Given the description of an element on the screen output the (x, y) to click on. 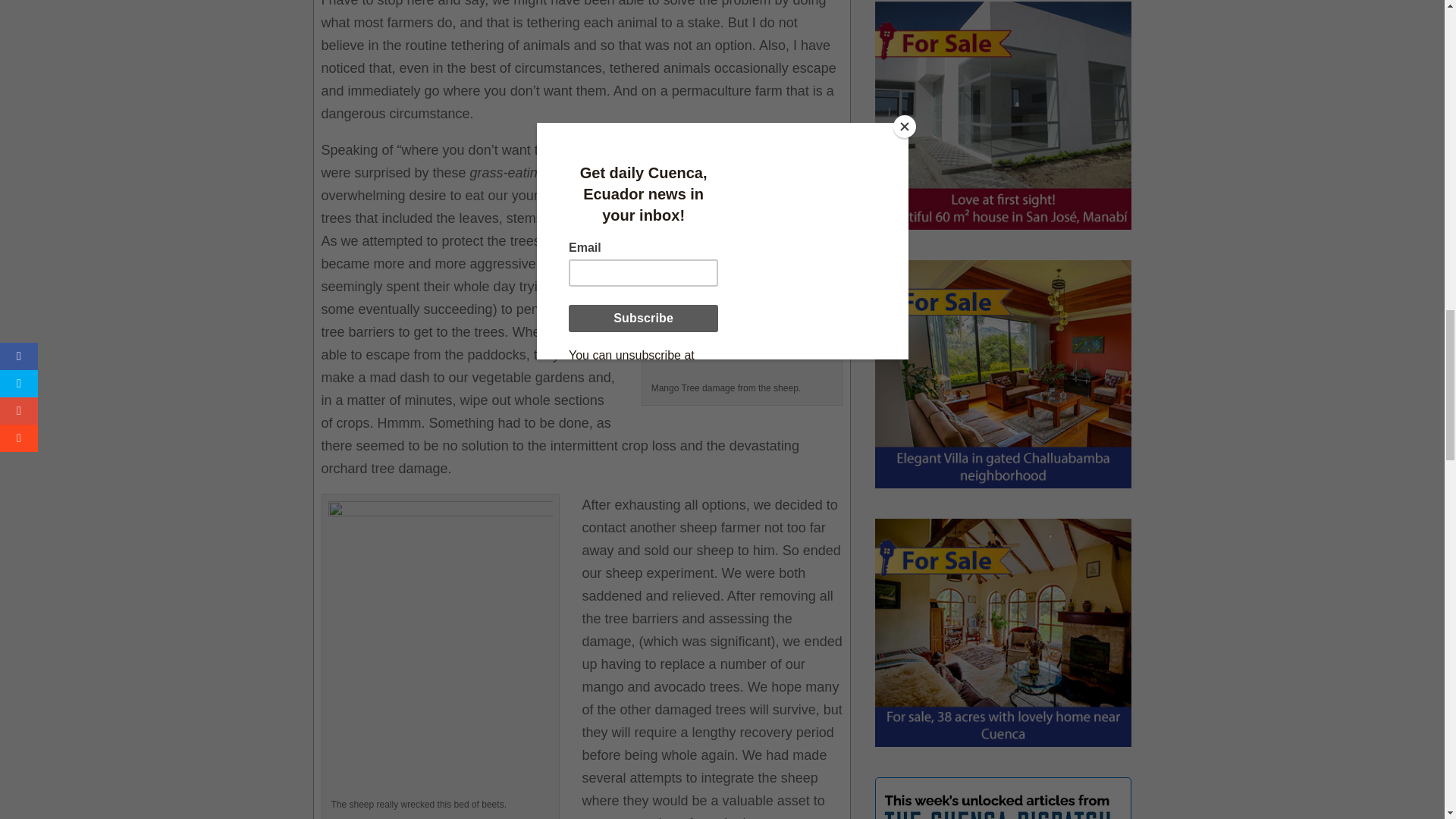
tcd-title (997, 802)
